Given the description of an element on the screen output the (x, y) to click on. 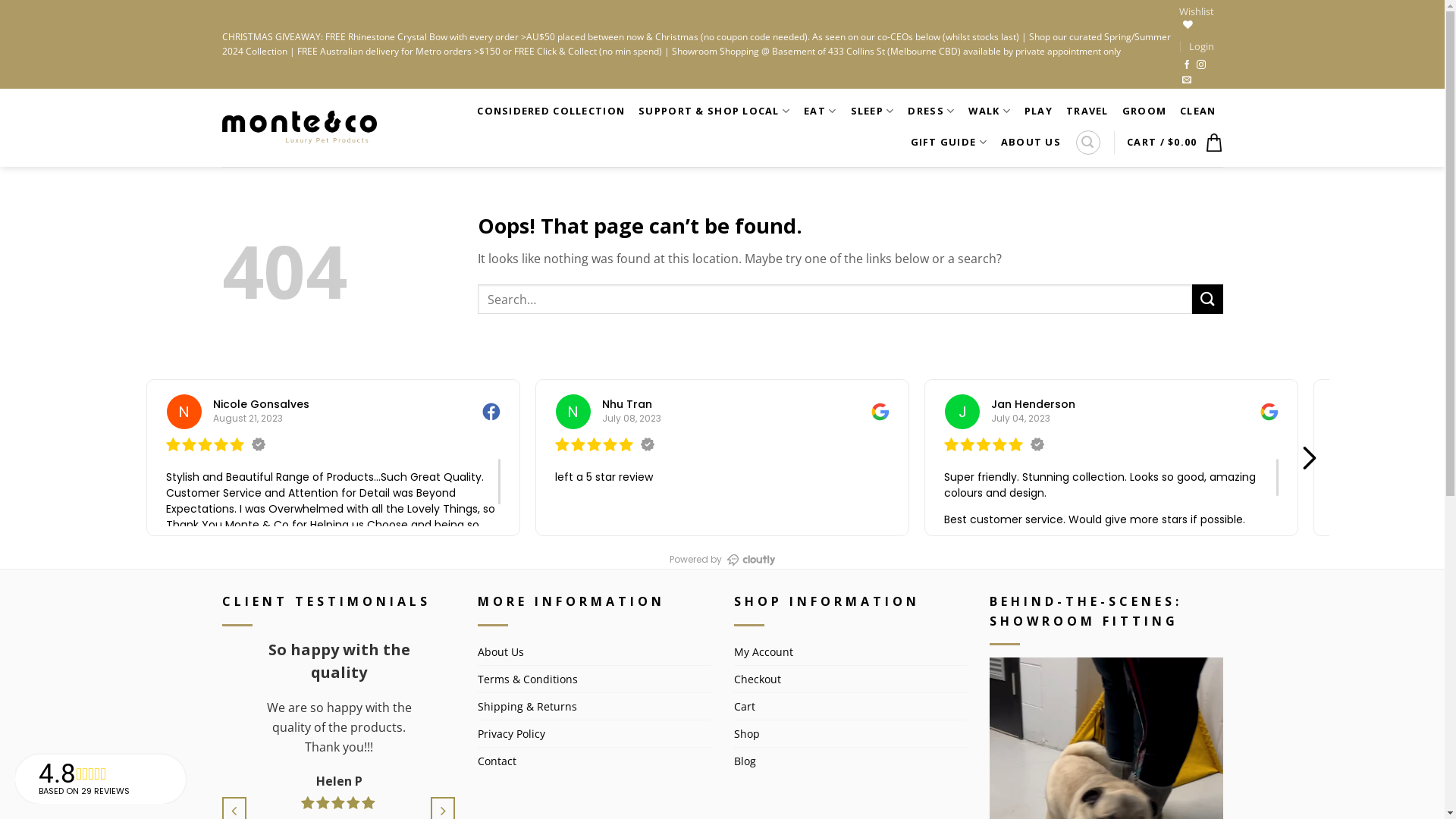
SLEEP Element type: text (872, 110)
About Us Element type: text (500, 651)
Checkout Element type: text (757, 678)
Terms & Conditions Element type: text (527, 678)
Follow on Instagram Element type: hover (1200, 64)
Follow on Facebook Element type: hover (1186, 64)
CLEAN Element type: text (1197, 110)
ABOUT US Element type: text (1030, 141)
WALK Element type: text (989, 110)
Privacy Policy Element type: text (511, 733)
GROOM Element type: text (1144, 110)
DRESS Element type: text (930, 110)
Login Element type: text (1201, 45)
Send us an email Element type: hover (1186, 80)
GIFT GUIDE Element type: text (948, 141)
CART / $0.00 Element type: text (1174, 142)
TRAVEL Element type: text (1087, 110)
My Account Element type: text (763, 651)
Shipping & Returns Element type: text (527, 706)
Blog Element type: text (745, 760)
CONSIDERED COLLECTION Element type: text (550, 110)
PLAY Element type: text (1038, 110)
Wishlist Element type: text (1196, 17)
Shop Element type: text (746, 733)
Contact Element type: text (496, 760)
EAT Element type: text (819, 110)
Cart Element type: text (744, 706)
SUPPORT & SHOP LOCAL Element type: text (714, 110)
